Given the description of an element on the screen output the (x, y) to click on. 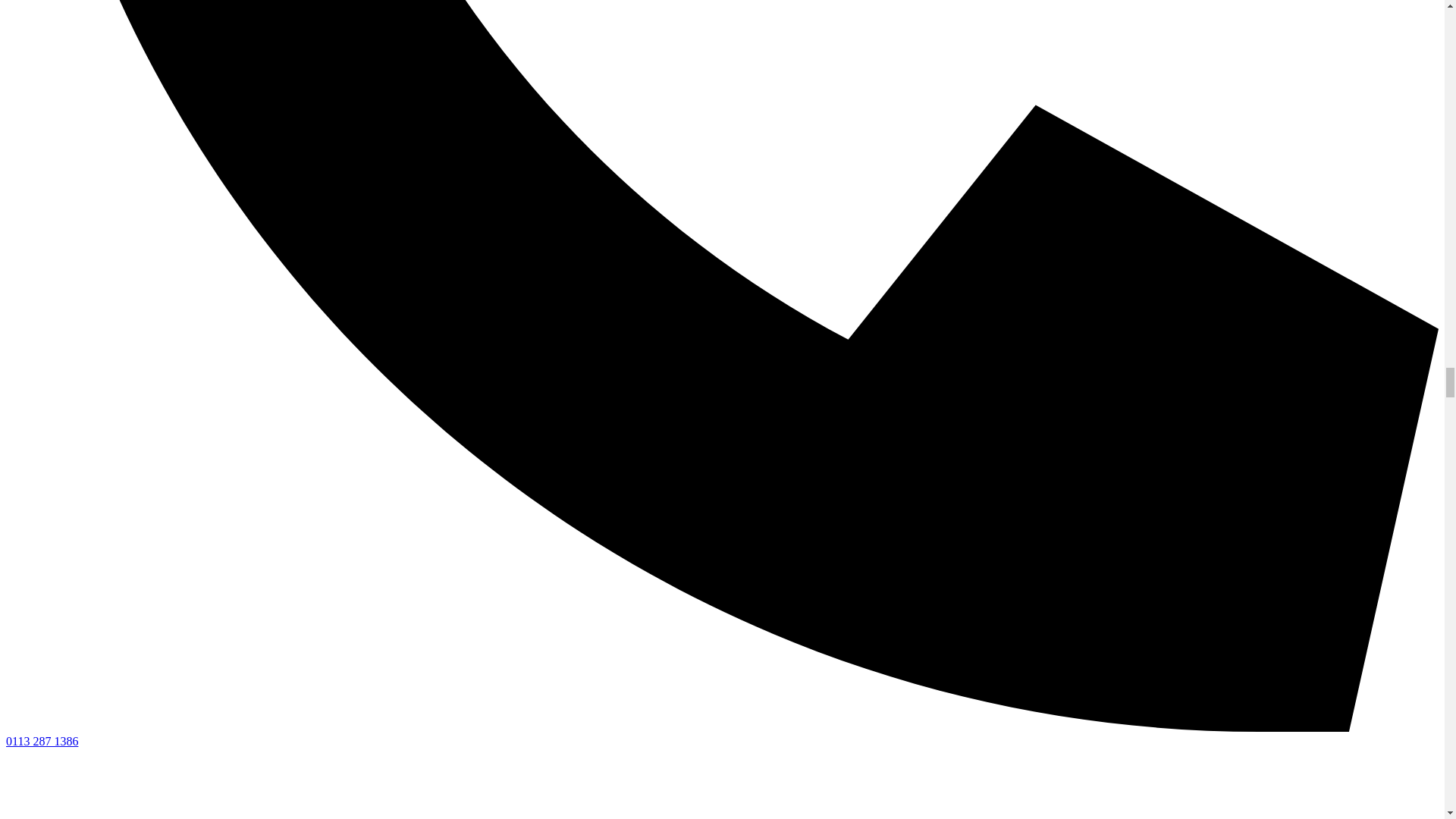
0113 287 1386 (41, 740)
